Given the description of an element on the screen output the (x, y) to click on. 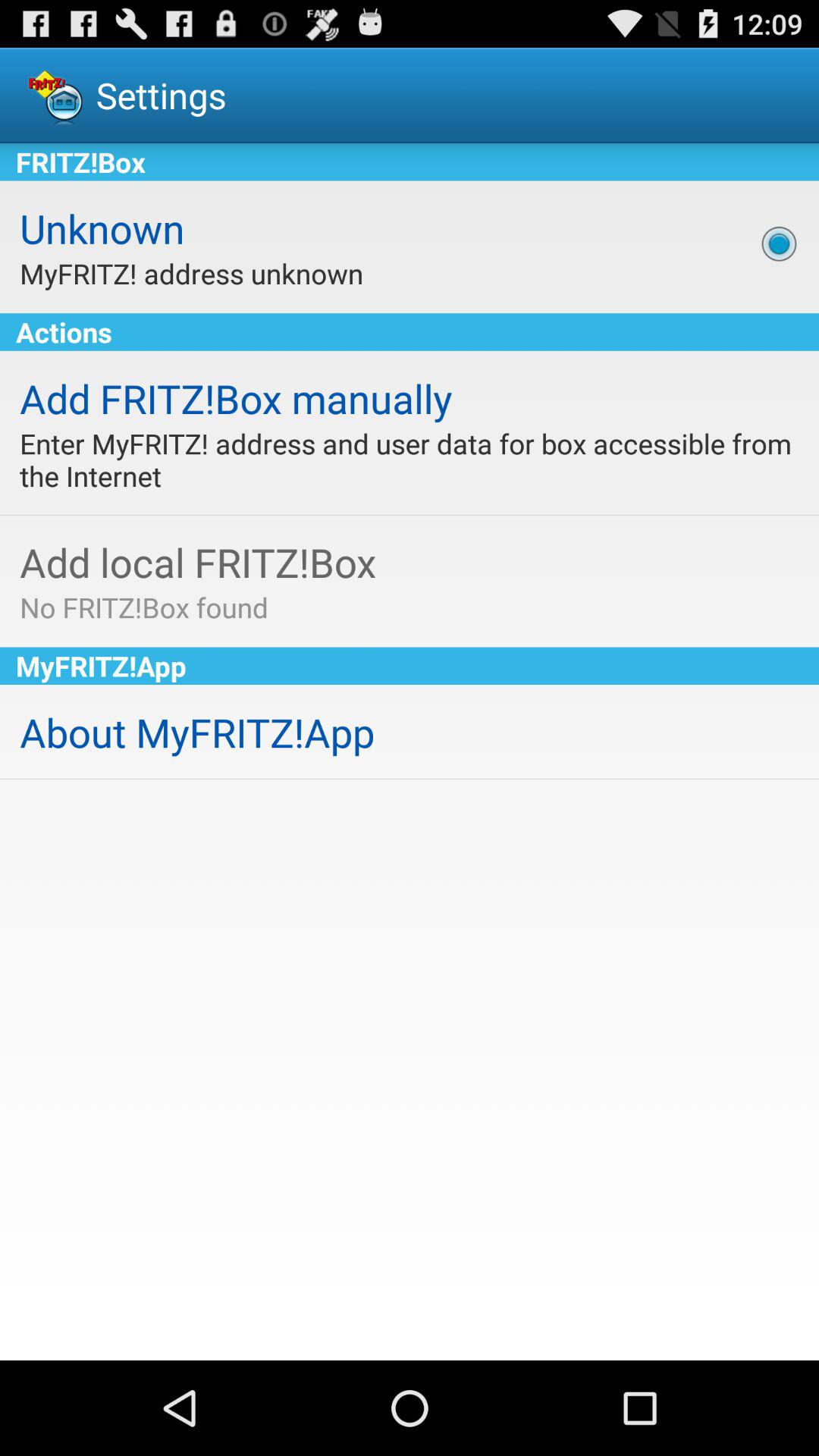
open actions item (409, 331)
